Given the description of an element on the screen output the (x, y) to click on. 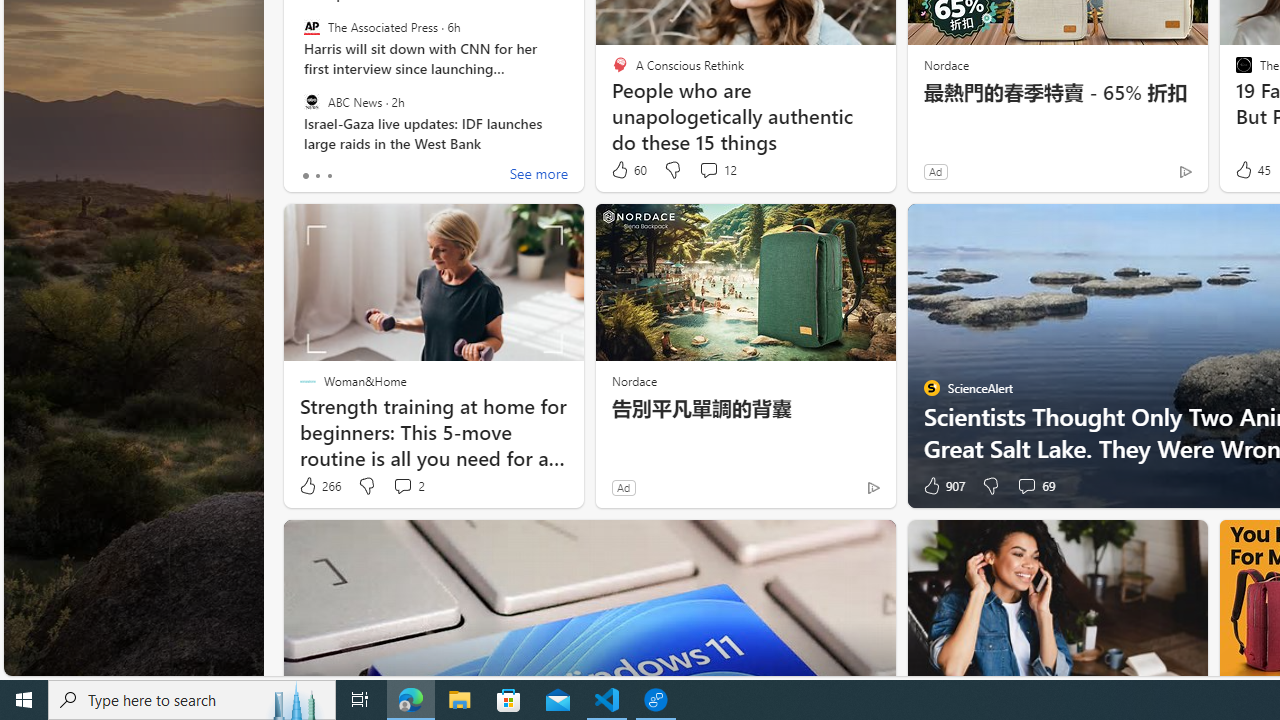
907 Like (942, 485)
60 Like (628, 170)
View comments 12 Comment (708, 169)
Dislike (989, 485)
View comments 69 Comment (1026, 485)
266 Like (319, 485)
